Given the description of an element on the screen output the (x, y) to click on. 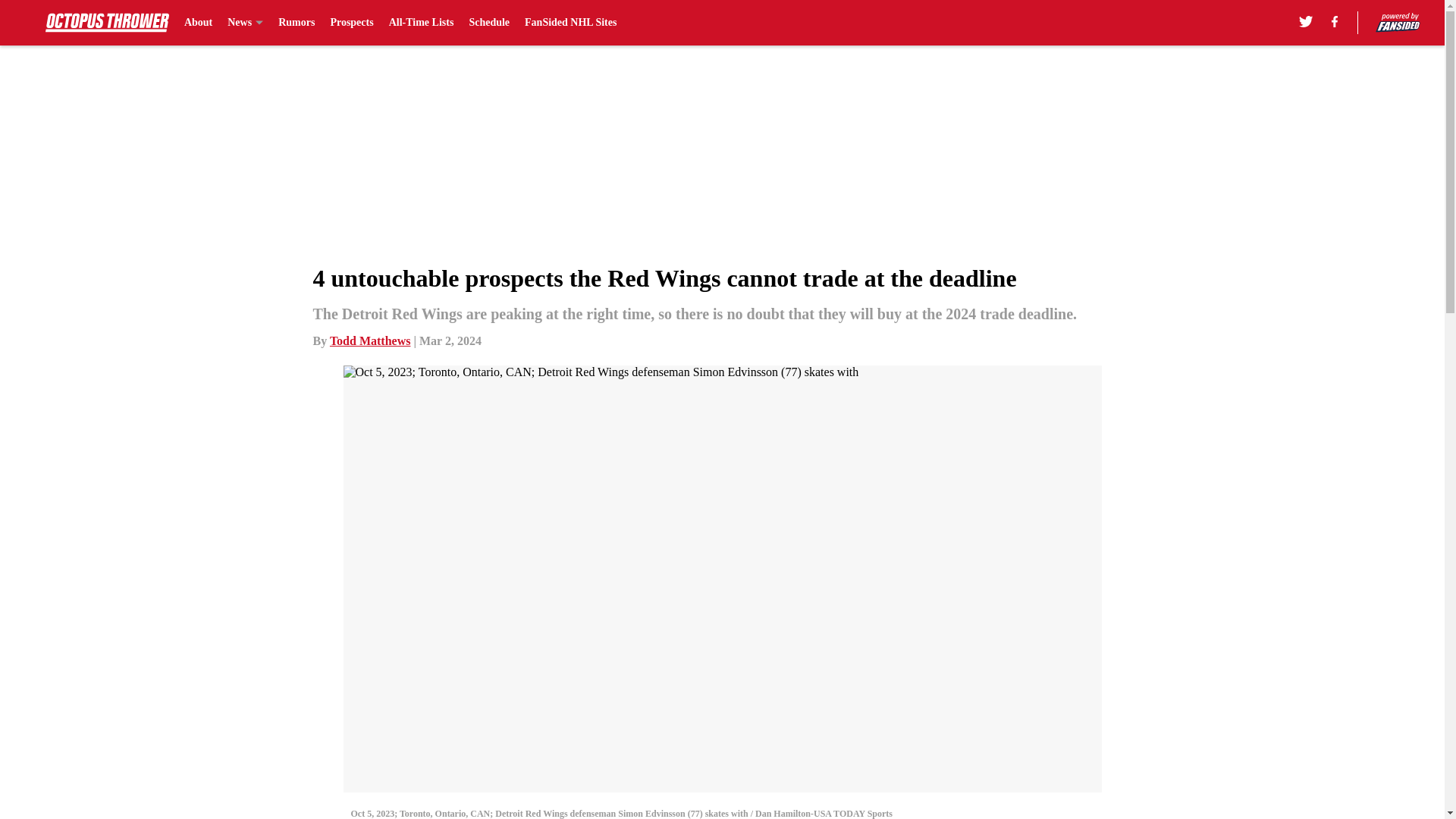
About (198, 22)
Rumors (296, 22)
FanSided NHL Sites (569, 22)
Prospects (351, 22)
All-Time Lists (421, 22)
Todd Matthews (370, 340)
Schedule (488, 22)
